Given the description of an element on the screen output the (x, y) to click on. 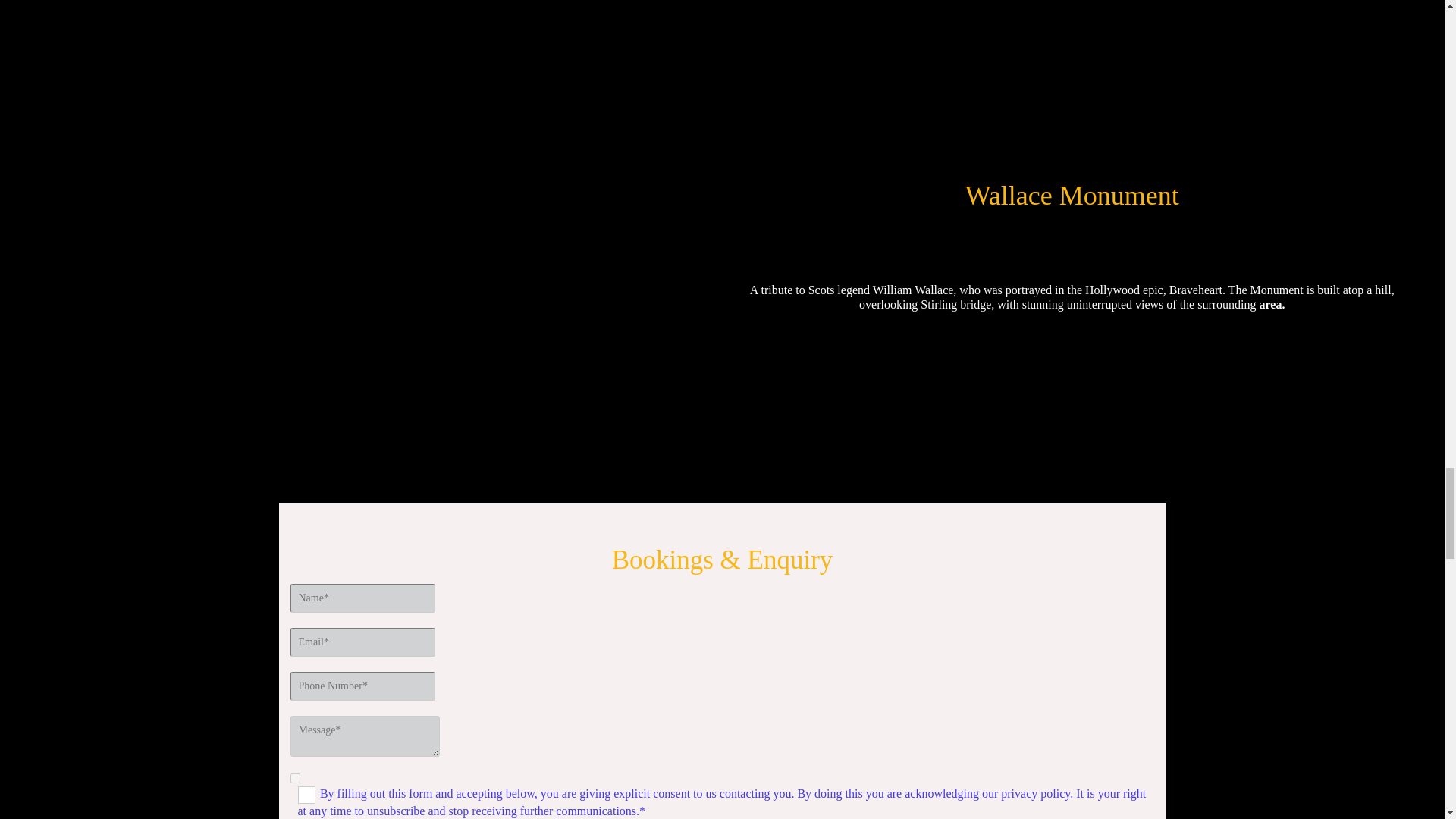
1 (294, 777)
